Given the description of an element on the screen output the (x, y) to click on. 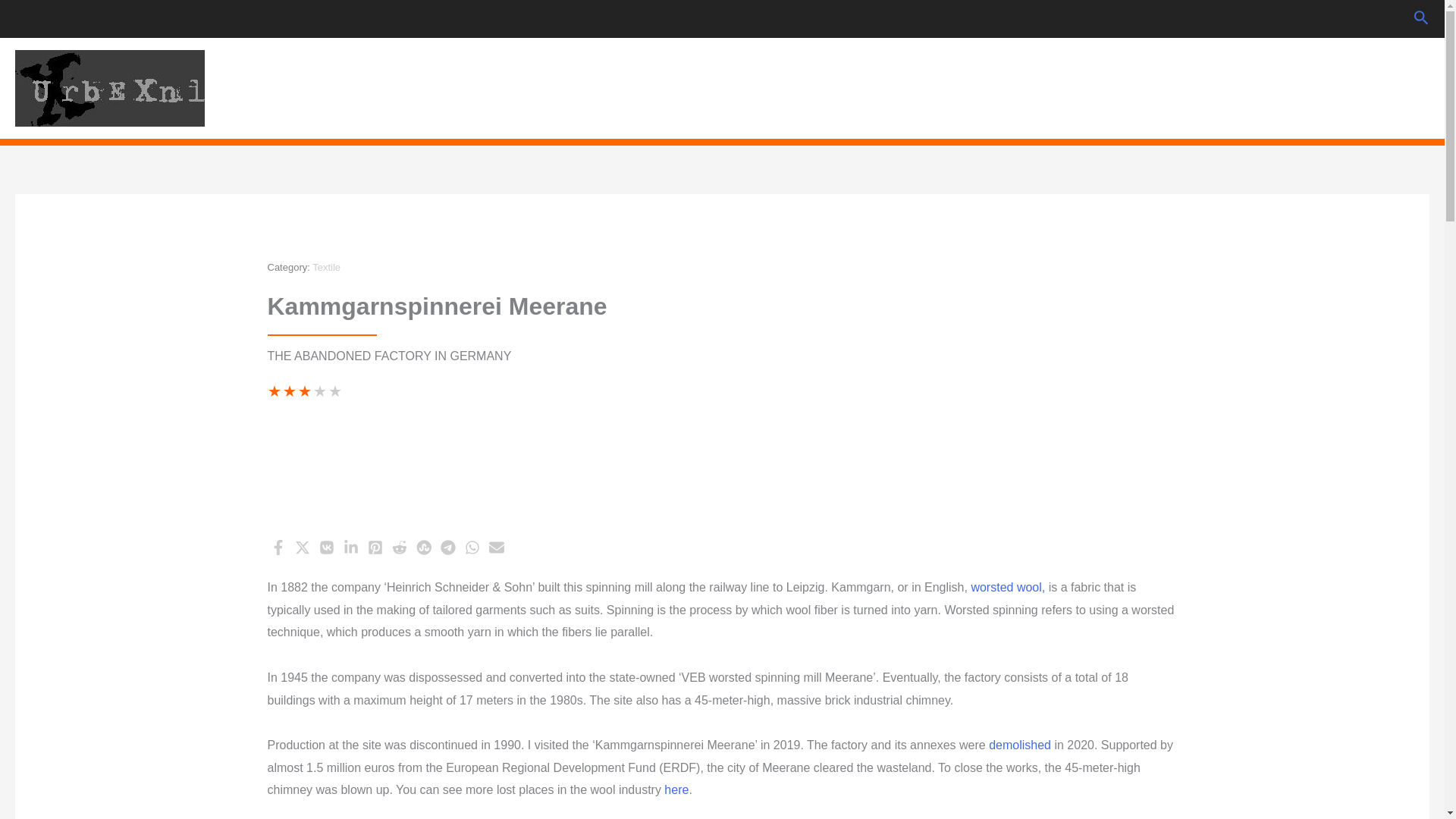
here (675, 789)
demolished (1019, 744)
Map (1348, 87)
Textile (326, 266)
Search (1293, 87)
Updates (1228, 87)
Urbex database map (1348, 87)
About (1401, 87)
Home (1165, 87)
Search (1421, 19)
worsted wool, (1008, 586)
